Given the description of an element on the screen output the (x, y) to click on. 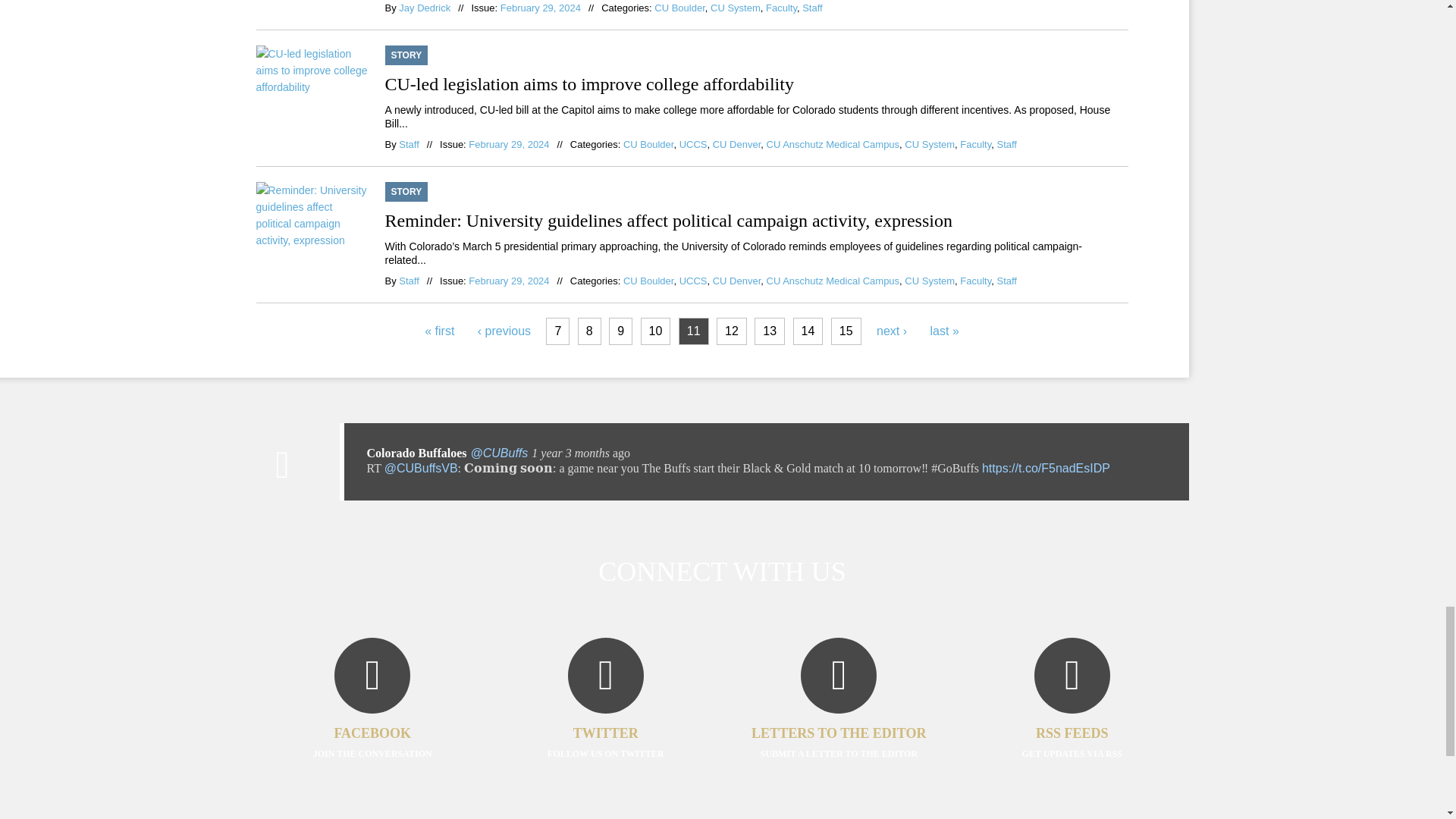
Submit a Letter to the Editor (838, 720)
Go to page 14 (807, 330)
Follow us on Twitter (605, 720)
Join the Conversation (372, 720)
Go to next page (891, 330)
Go to previous page (504, 330)
Go to first page (438, 330)
Go to page 15 (845, 330)
Go to last page (944, 330)
Go to page 13 (769, 330)
Go to page 10 (655, 330)
Go to page 12 (731, 330)
Get Updates Via RSS (1072, 720)
